Given the description of an element on the screen output the (x, y) to click on. 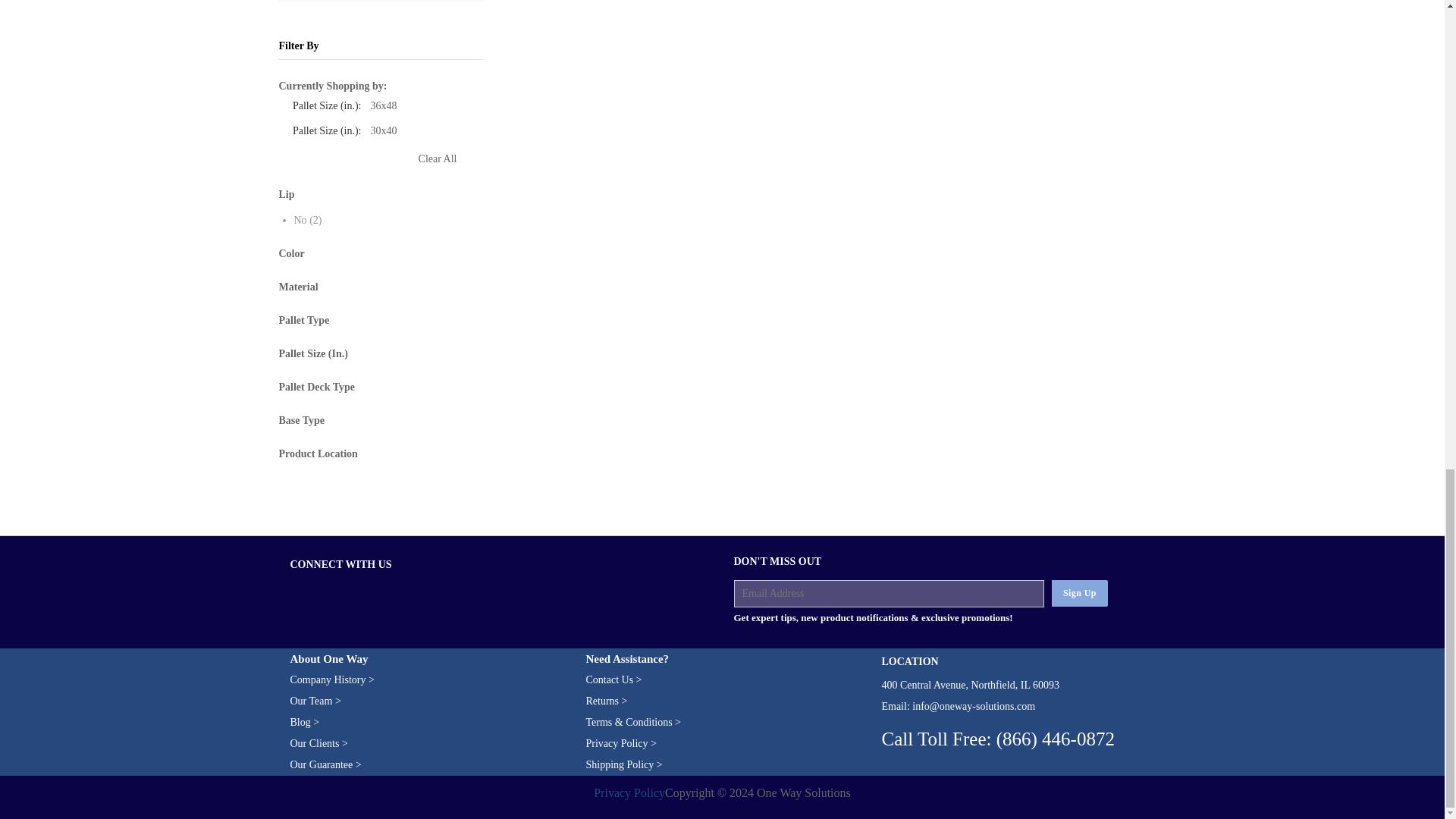
Remove This Item (452, 109)
Remove This Item (452, 133)
No (300, 220)
